Given the description of an element on the screen output the (x, y) to click on. 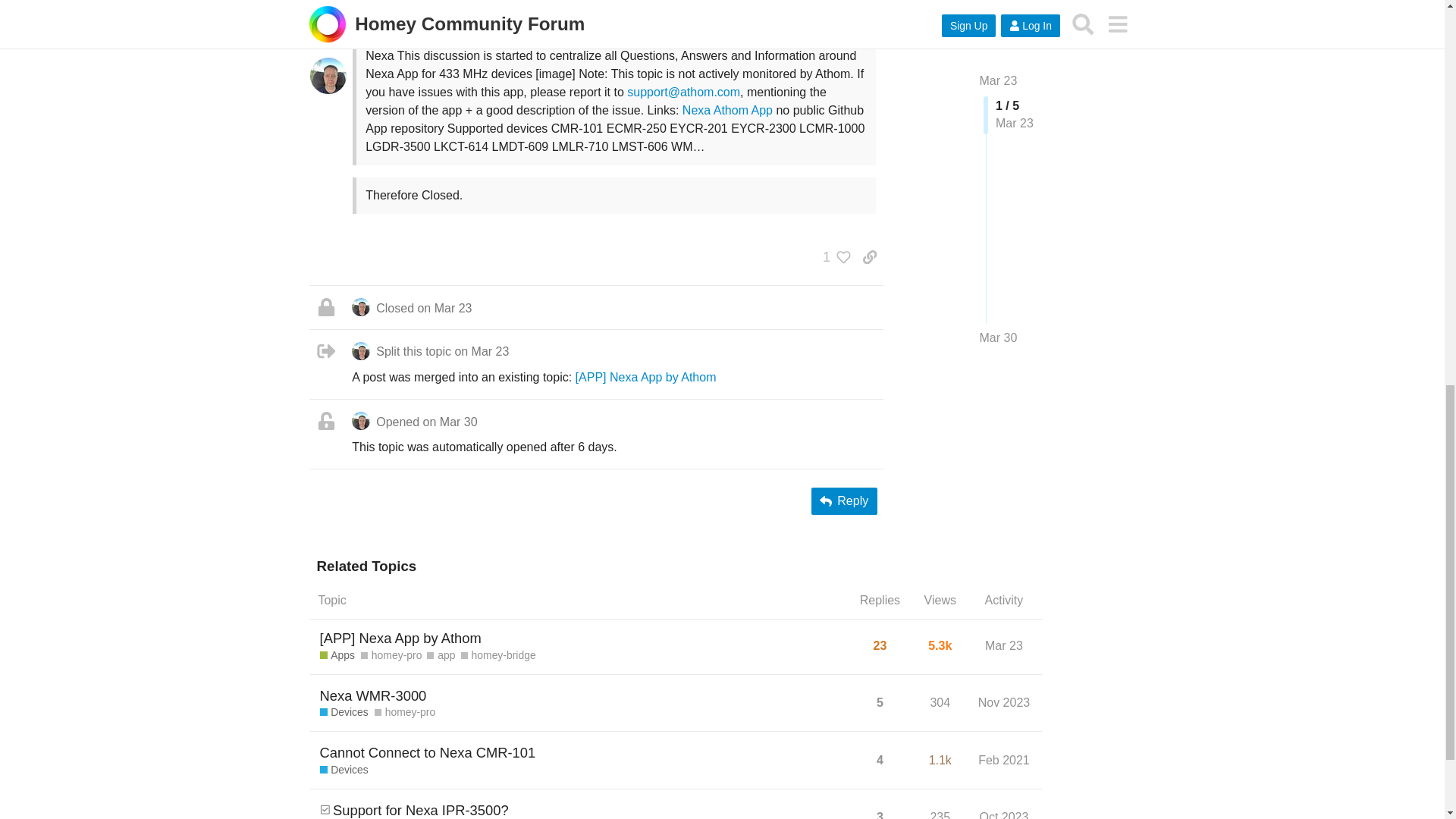
Apps (555, 28)
